Given the description of an element on the screen output the (x, y) to click on. 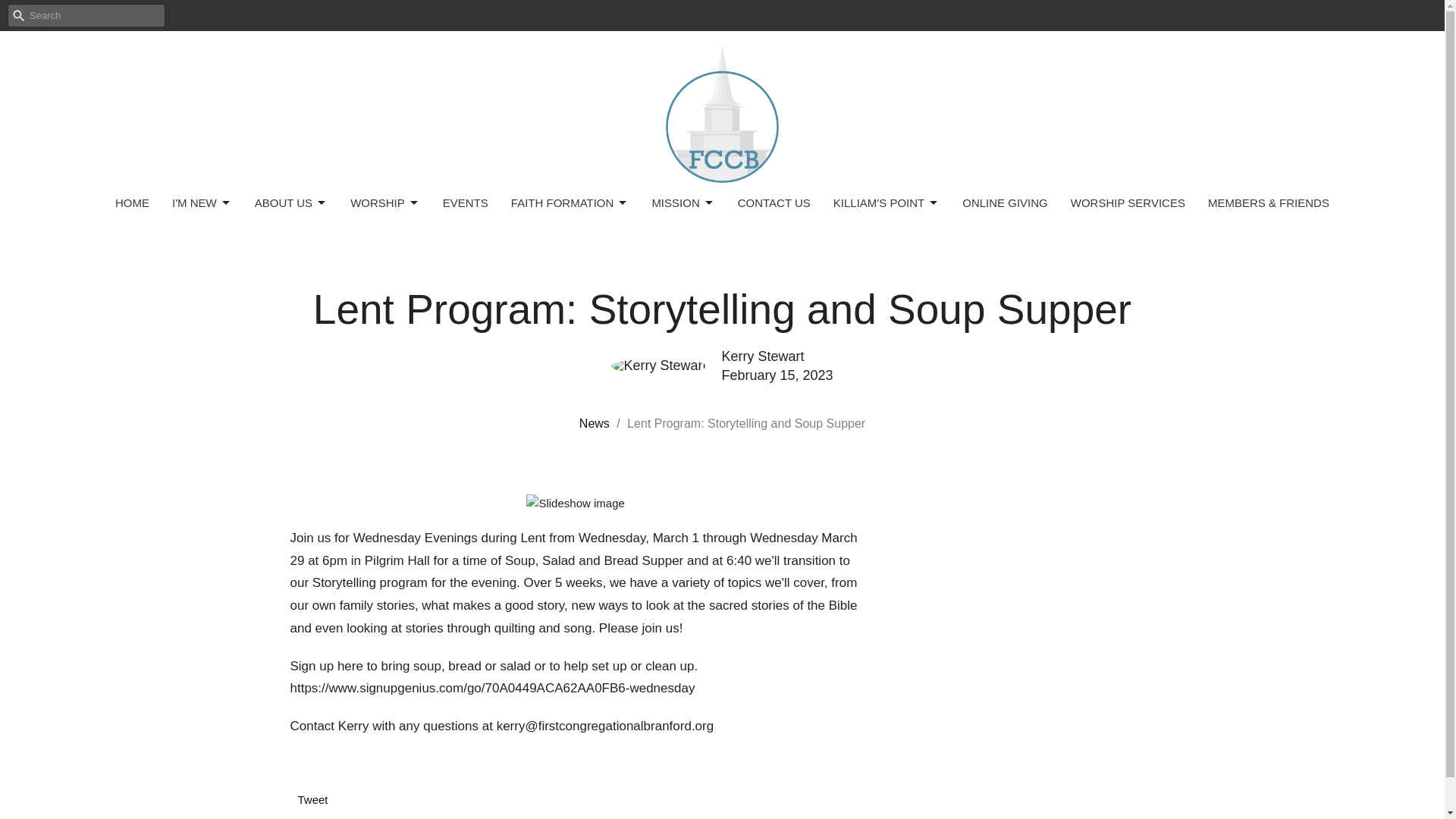
KILLIAM'S POINT (885, 202)
I'M NEW (201, 202)
HOME (132, 202)
MISSION (682, 202)
WORSHIP (385, 202)
EVENTS (464, 202)
ABOUT US (290, 202)
FAITH FORMATION (569, 202)
CONTACT US (774, 202)
